Given the description of an element on the screen output the (x, y) to click on. 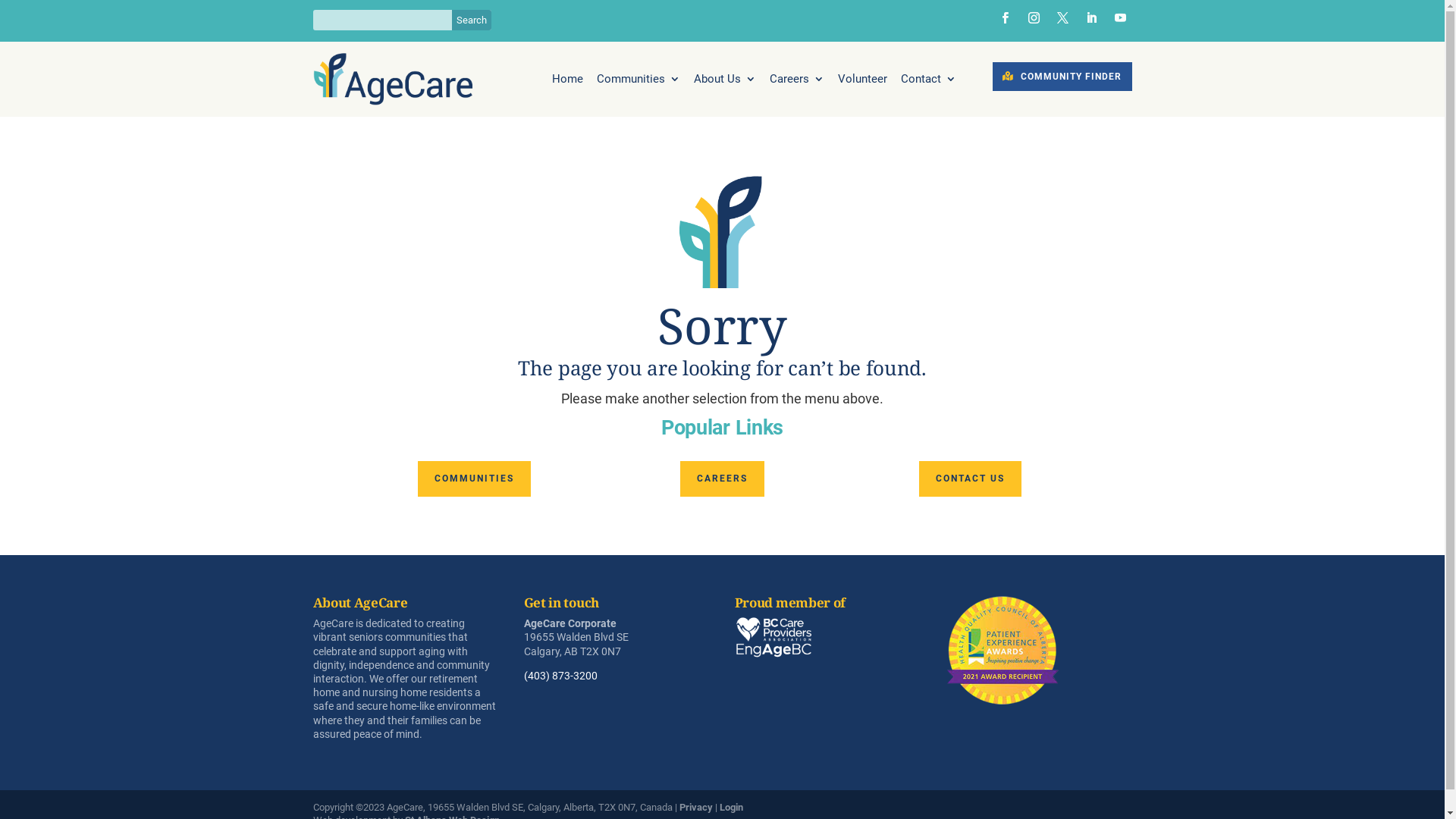
Communities Element type: text (638, 81)
COMMUNITIES Element type: text (473, 479)
Follow on Youtube Element type: hover (1119, 17)
age-care-icon Element type: hover (722, 231)
Follow on X Element type: hover (1062, 17)
Login Element type: text (730, 806)
Health Quality Council of Alberta Patient Experience Awards Element type: hover (1002, 650)
Volunteer Element type: text (862, 81)
CAREERS Element type: text (722, 479)
Search Element type: text (471, 19)
AgeCare Element type: hover (391, 79)
Follow on Facebook Element type: hover (1004, 17)
Follow on Instagram Element type: hover (1033, 17)
(403) 873-3200 Element type: text (560, 675)
Follow on LinkedIn Element type: hover (1090, 17)
CONTACT US Element type: text (970, 479)
Careers Element type: text (796, 81)
BC Care Providers Association - EngAge BC Element type: hover (773, 637)
Privacy Element type: text (695, 806)
Home Element type: text (567, 81)
Contact Element type: text (928, 81)
About Us Element type: text (724, 81)
COMMUNITY FINDER Element type: text (1061, 76)
